Given the description of an element on the screen output the (x, y) to click on. 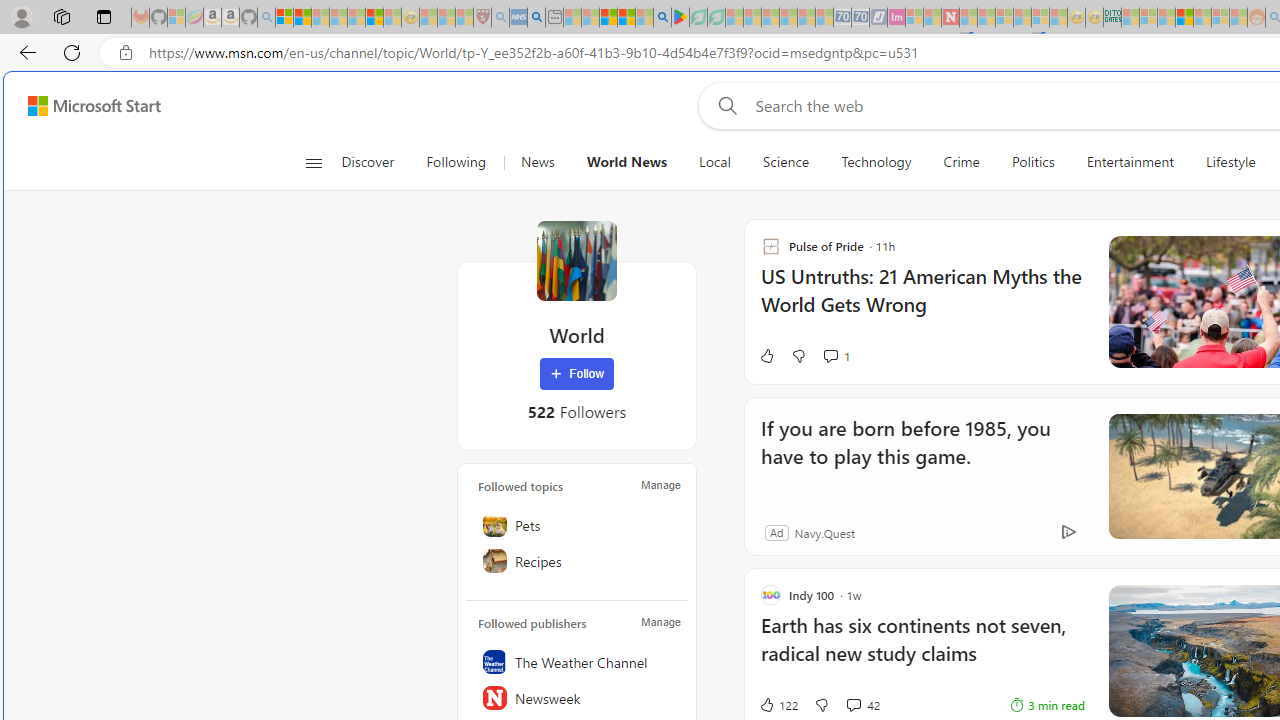
Pets - MSN (626, 17)
